Given the description of an element on the screen output the (x, y) to click on. 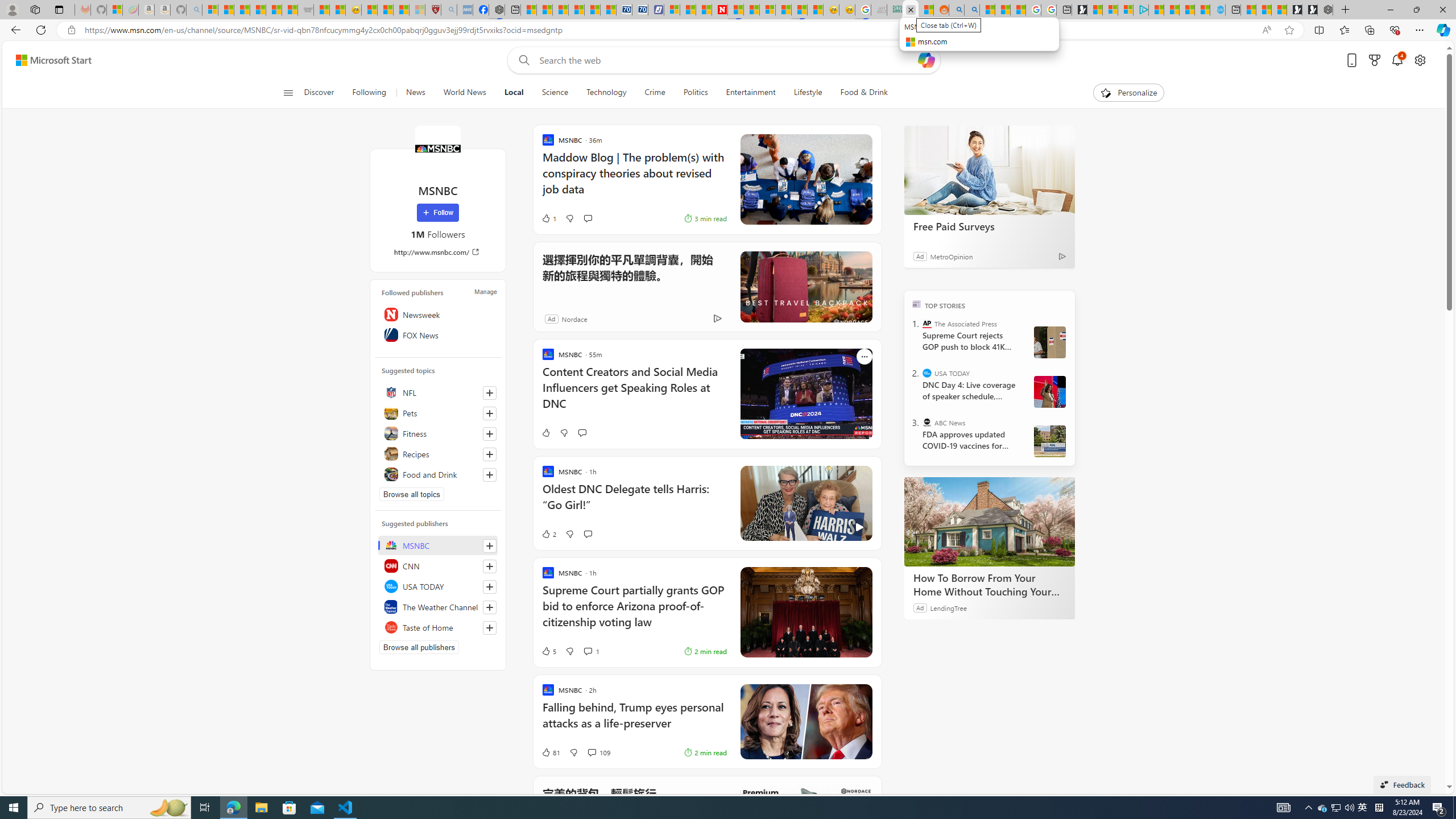
Home | Sky Blue Bikes - Sky Blue Bikes (1217, 9)
View comments 109 Comment (591, 751)
Food and Drink (437, 474)
12 Popular Science Lies that Must be Corrected - Sleeping (416, 9)
Follow this source (489, 627)
CNN (437, 565)
USA TODAY (927, 372)
Science (554, 92)
How To Borrow From Your Home Without Touching Your Mortgage (988, 584)
